Given the description of an element on the screen output the (x, y) to click on. 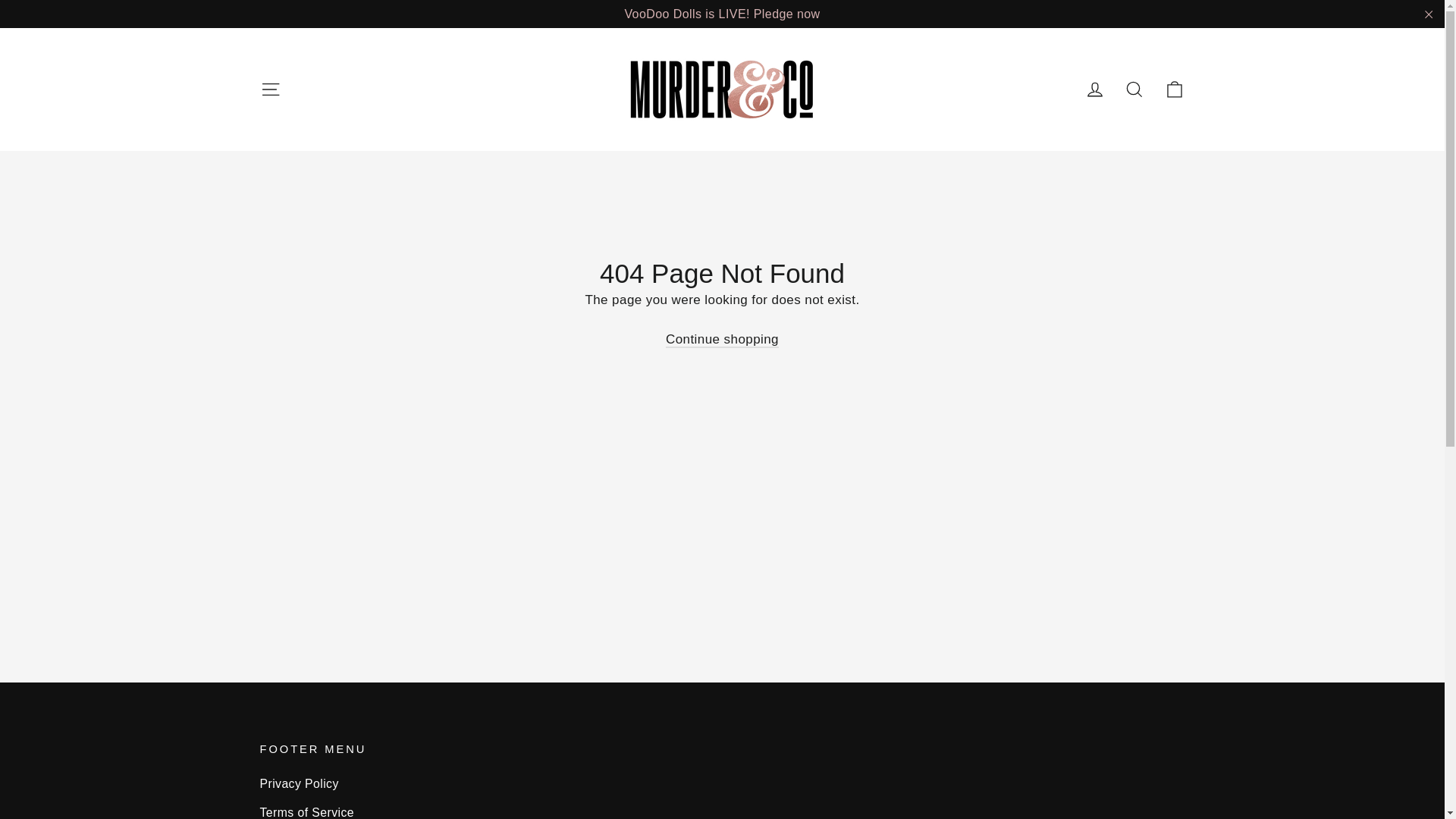
Continue shopping (721, 340)
Site navigation (269, 89)
Terms of Service (722, 809)
Privacy Policy (722, 783)
Search (1134, 89)
Cart (1173, 89)
Log in (1095, 89)
